Given the description of an element on the screen output the (x, y) to click on. 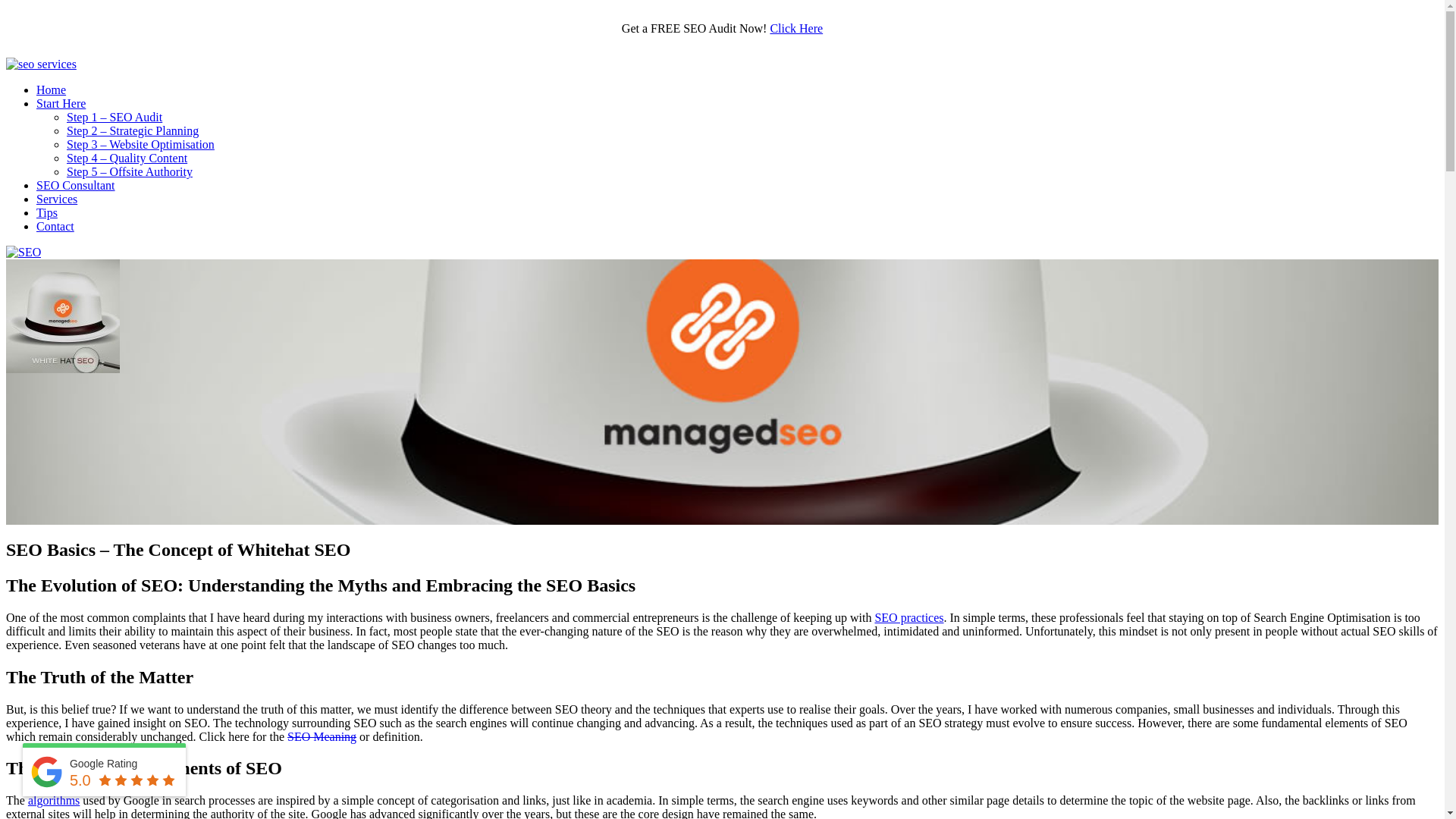
algorithms Element type: text (53, 799)
Contact Element type: text (55, 225)
Tips Element type: text (46, 212)
SEO practices Element type: text (908, 617)
Click Here Element type: text (795, 27)
Home Element type: text (50, 89)
SEO Meaning Element type: text (321, 736)
Services Element type: text (56, 198)
SEO Consultant Element type: text (75, 184)
Start Here Element type: text (60, 103)
